Given the description of an element on the screen output the (x, y) to click on. 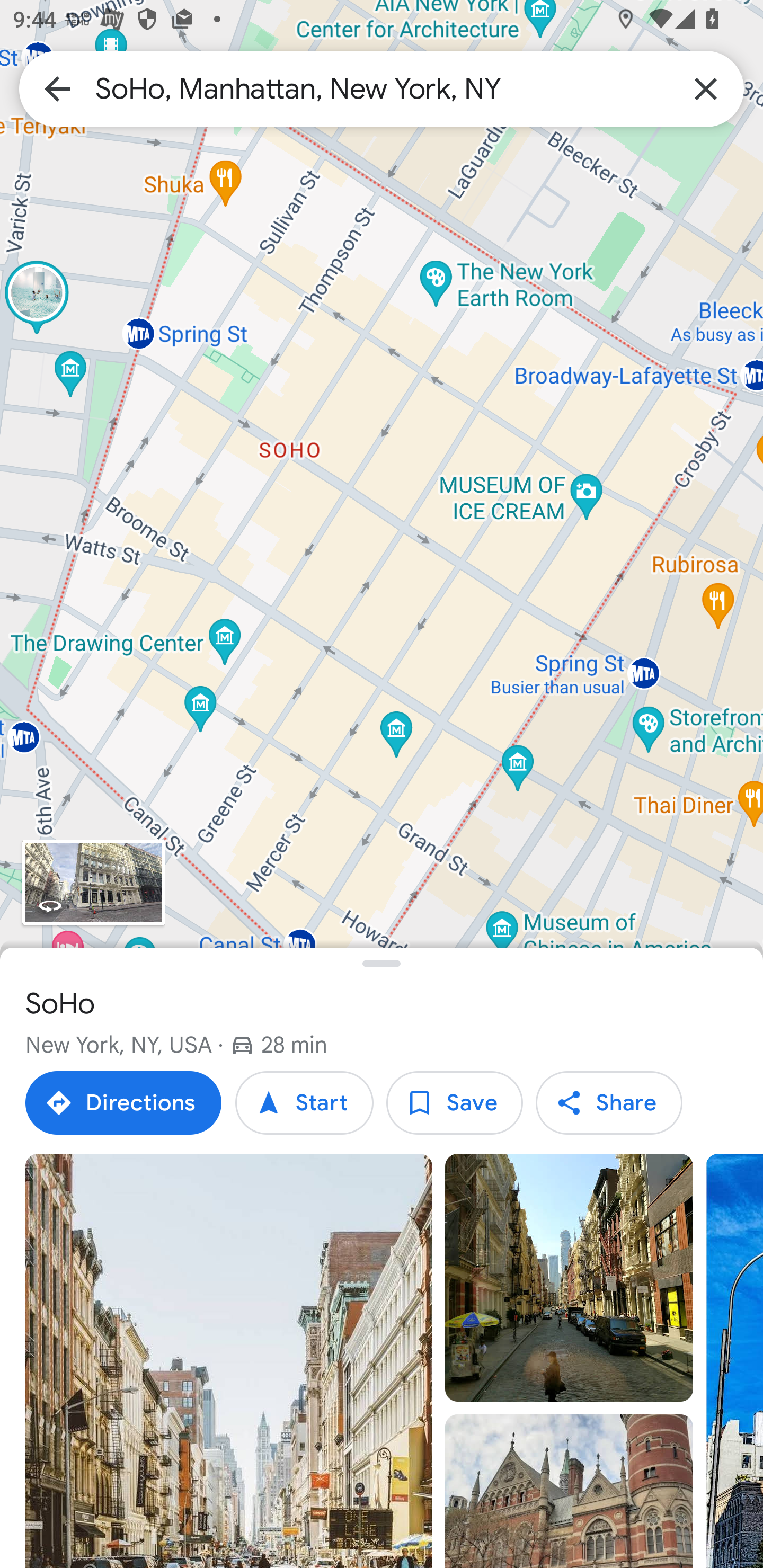
Back (57, 88)
SoHo, Manhattan, New York, NY (381, 88)
Clear (705, 88)
View Street view imagery for SoHo (93, 881)
Directions to SoHo Directions Directions to SoHo (123, 1102)
Start Start Start (304, 1102)
Save SoHo to lists Save Save SoHo to lists (454, 1102)
Share SoHo Share Share SoHo (608, 1102)
Photo (228, 1361)
Photo (568, 1277)
Photo (568, 1491)
